Given the description of an element on the screen output the (x, y) to click on. 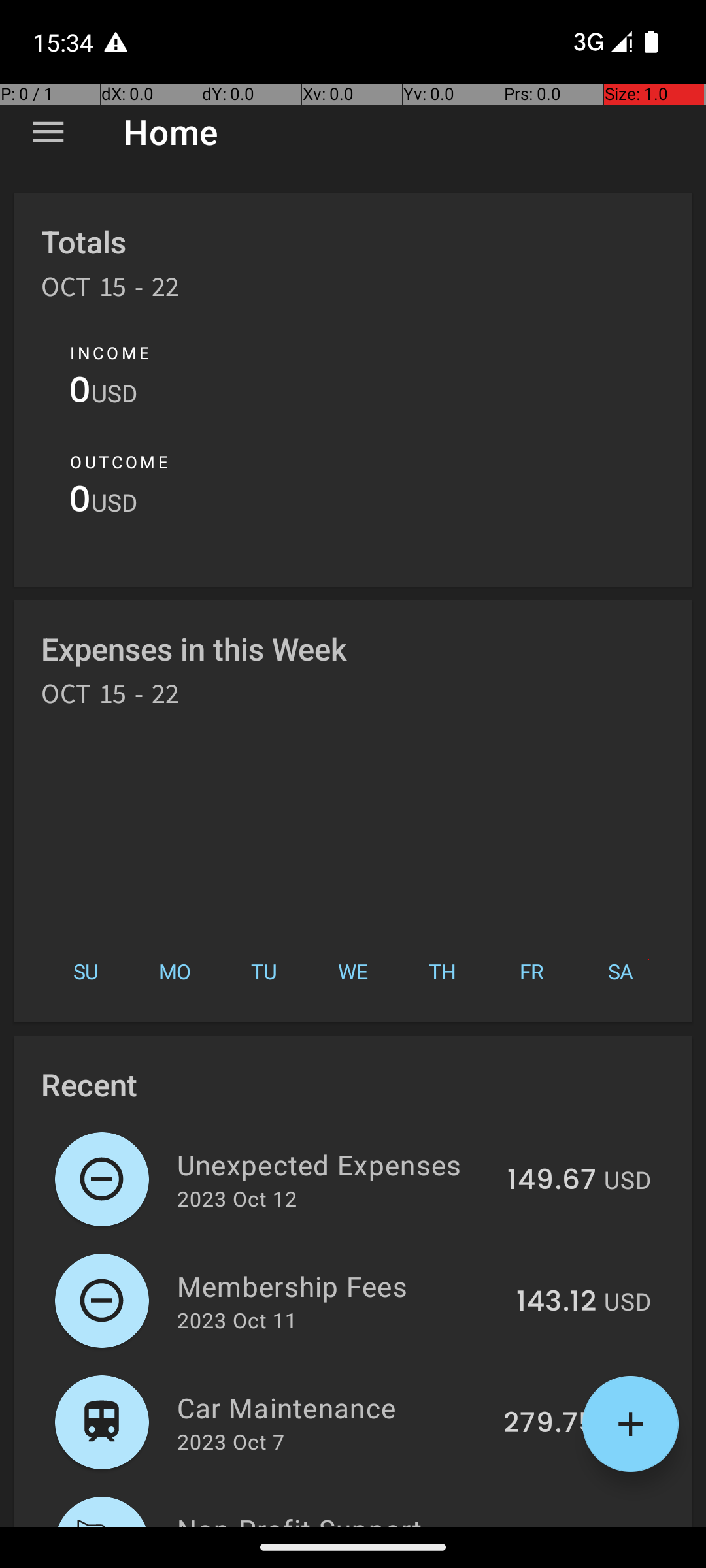
Unexpected Expenses Element type: android.widget.TextView (334, 1164)
149.67 Element type: android.widget.TextView (551, 1180)
Membership Fees Element type: android.widget.TextView (339, 1285)
143.12 Element type: android.widget.TextView (555, 1301)
Car Maintenance Element type: android.widget.TextView (332, 1407)
2023 Oct 7 Element type: android.widget.TextView (230, 1441)
279.75 Element type: android.widget.TextView (549, 1423)
Non-Profit Support Element type: android.widget.TextView (331, 1518)
335.78 Element type: android.widget.TextView (548, 1524)
